Given the description of an element on the screen output the (x, y) to click on. 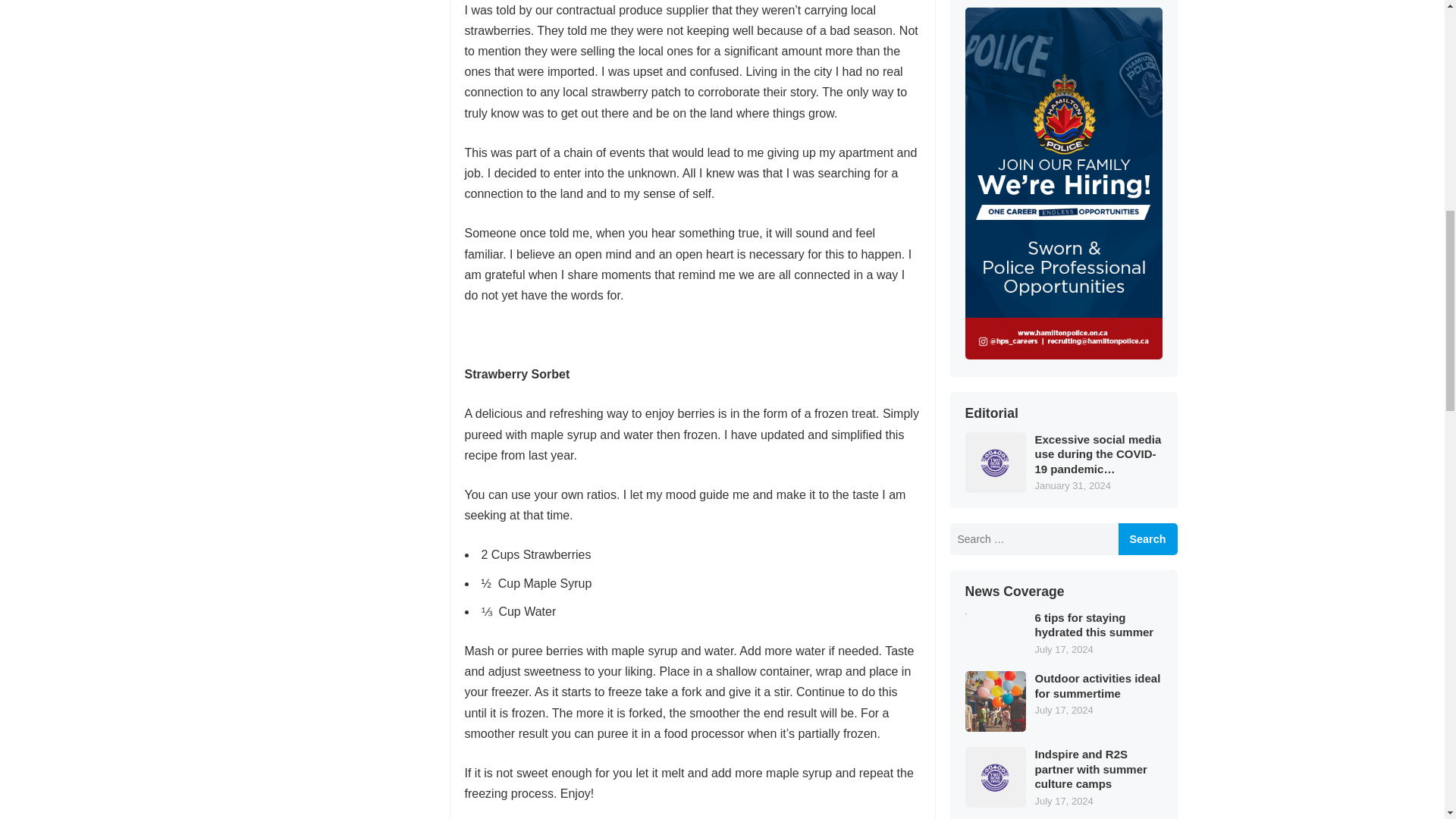
Search (1147, 539)
Search (1147, 539)
